Given the description of an element on the screen output the (x, y) to click on. 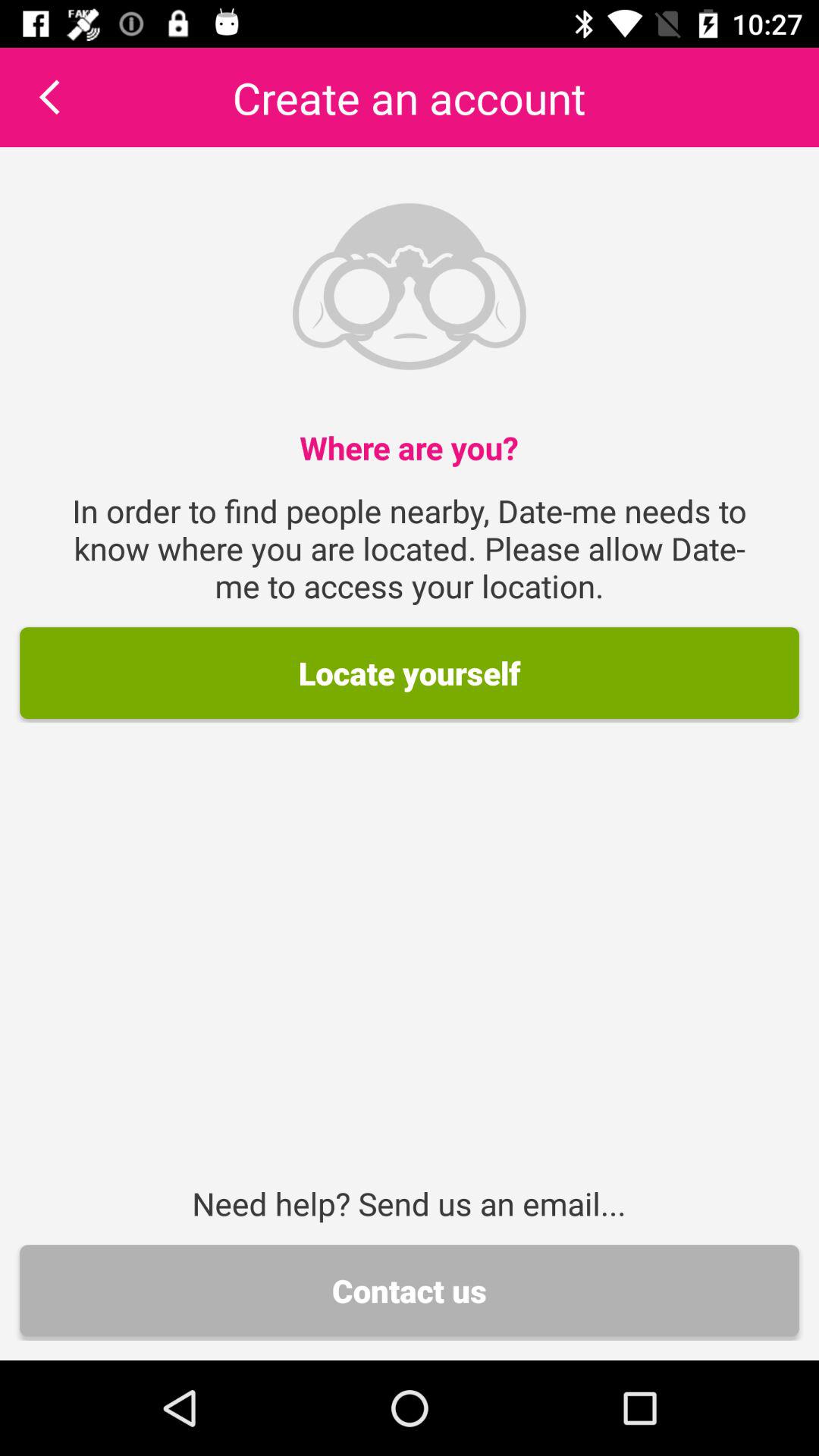
open app below in order to app (409, 672)
